Given the description of an element on the screen output the (x, y) to click on. 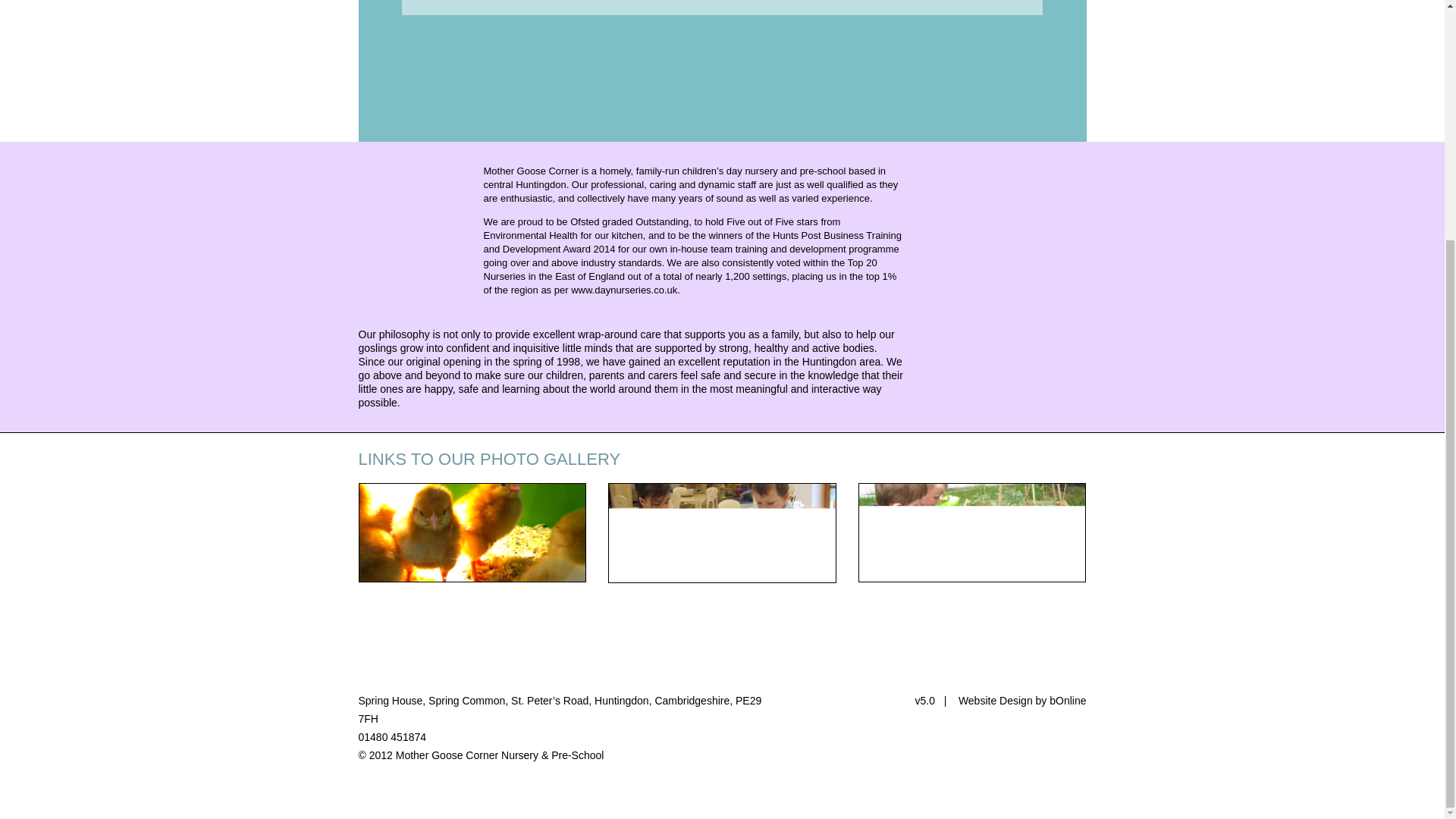
asset 3 (721, 533)
asset 4 (972, 532)
Website Design by bOnline (1022, 700)
asset 2 (472, 532)
